Given the description of an element on the screen output the (x, y) to click on. 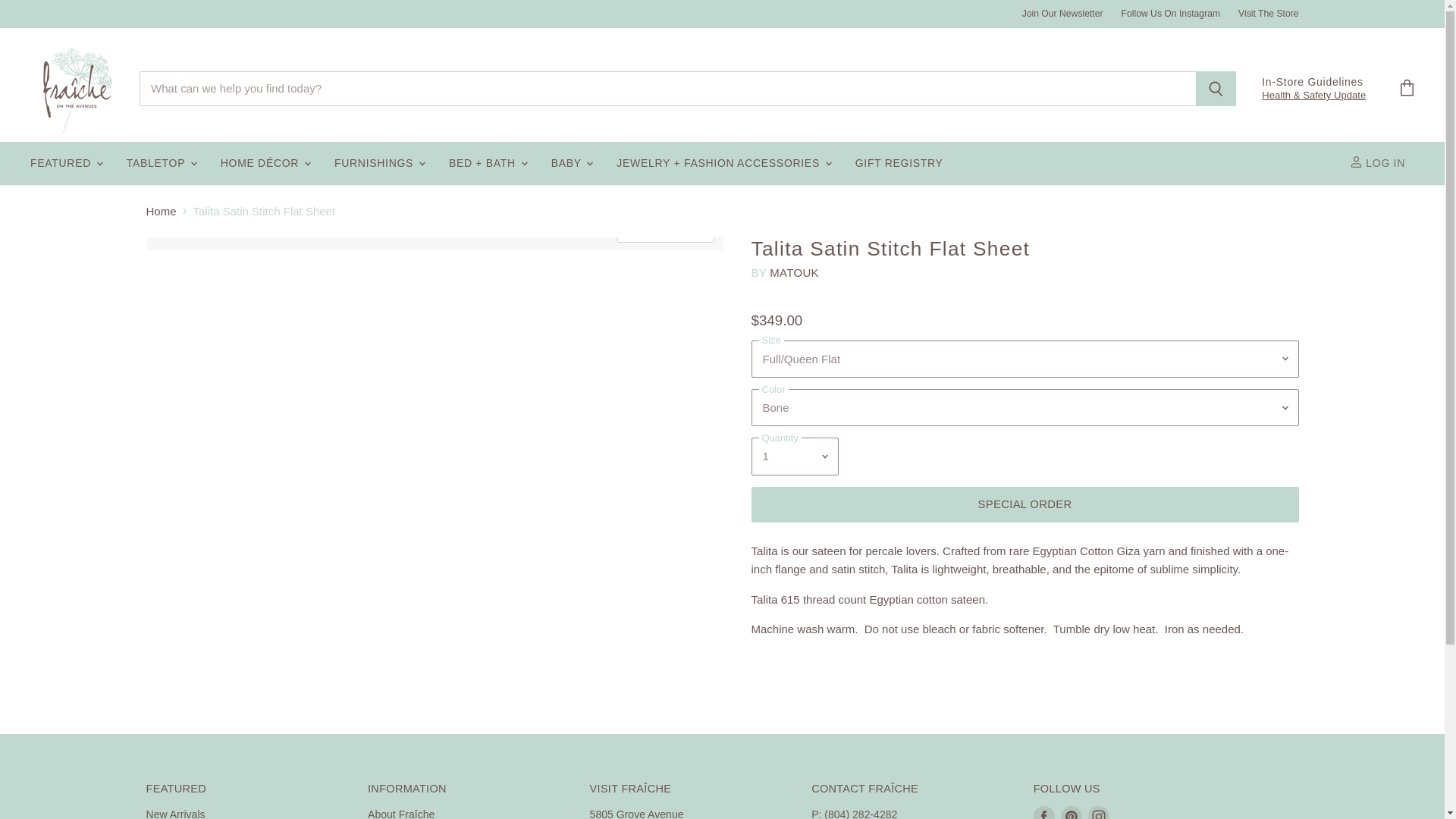
Facebook (1044, 811)
Instagram (1098, 811)
Matouk (794, 272)
Follow Us On Instagram (1171, 13)
ACCOUNT ICON (1355, 161)
Visit The Store (1268, 13)
FEATURED (65, 163)
TABLETOP (160, 163)
Pinterest (1071, 811)
Join Our Newsletter (1062, 13)
